Given the description of an element on the screen output the (x, y) to click on. 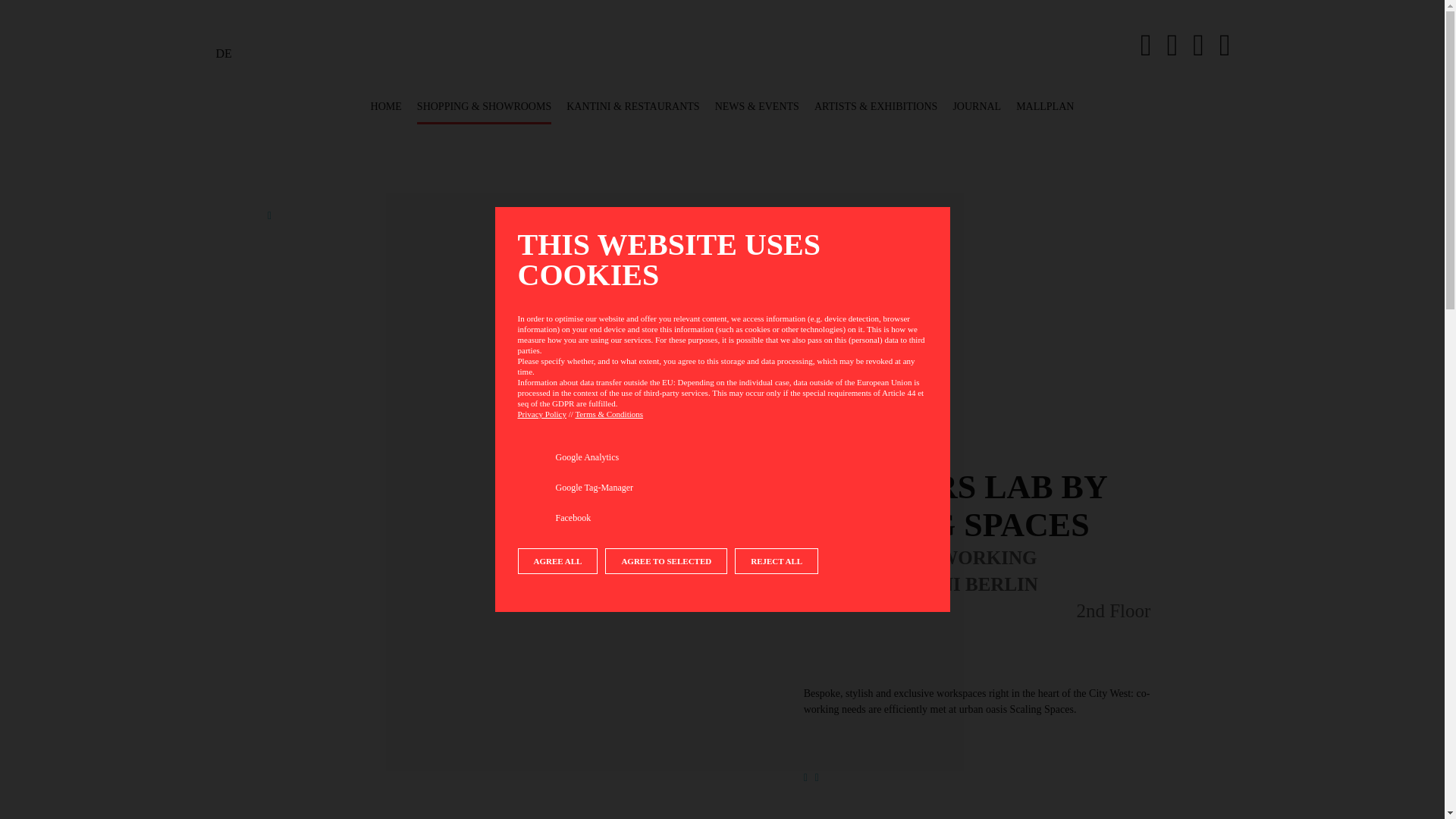
DE (223, 52)
JOURNAL (976, 106)
REJECT ALL (776, 560)
MALLPLAN (1045, 106)
HOME (386, 106)
Privacy Policy (541, 413)
AGREE ALL (556, 560)
AGREE TO SELECTED (665, 560)
